Given the description of an element on the screen output the (x, y) to click on. 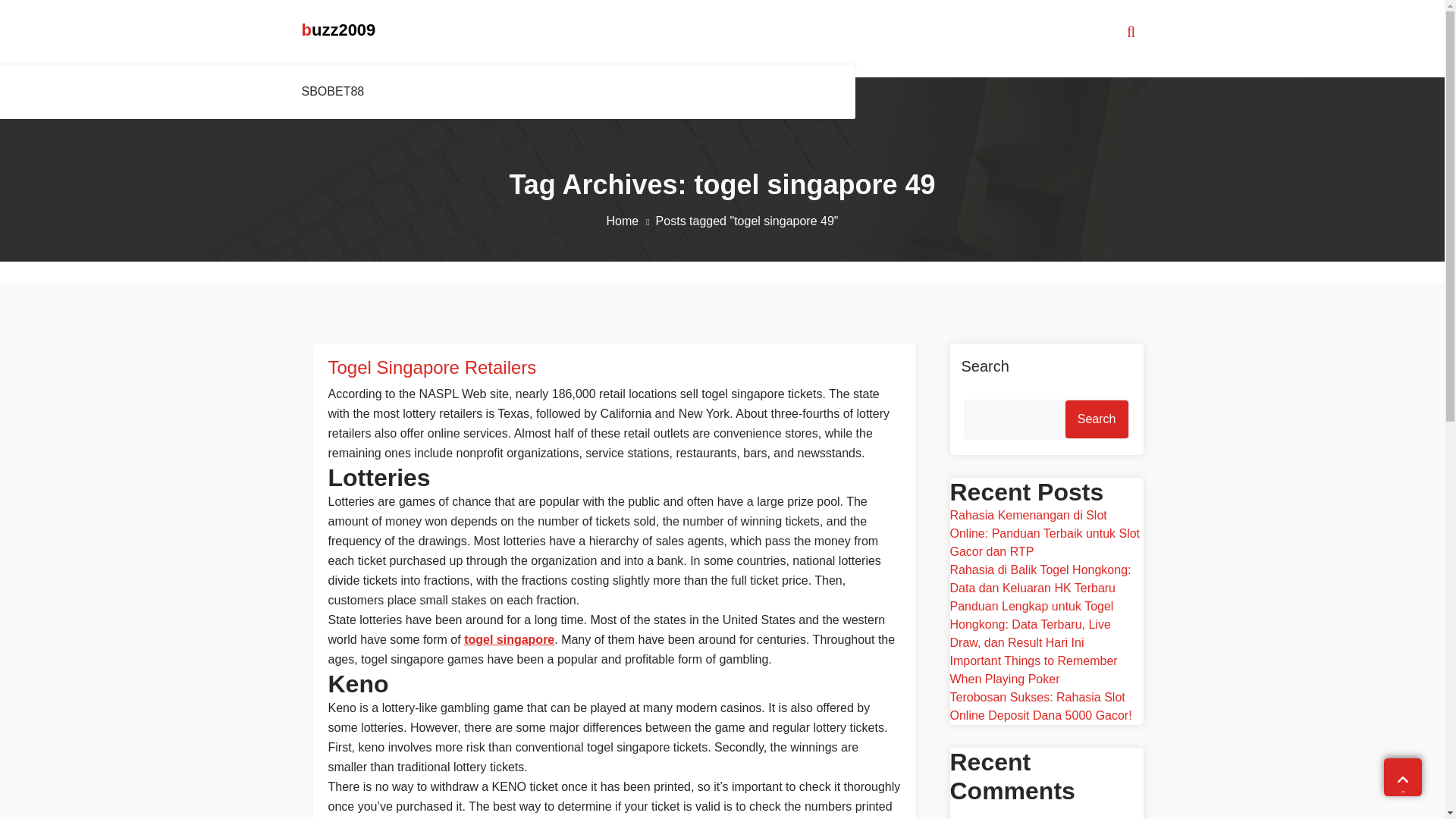
buzz2009 (338, 30)
Home (631, 220)
togel singapore (509, 639)
Search (1096, 419)
Togel Singapore Retailers (613, 367)
SBOBET88 (336, 91)
SBOBET88 (336, 91)
Important Things to Remember When Playing Poker (1032, 669)
